Given the description of an element on the screen output the (x, y) to click on. 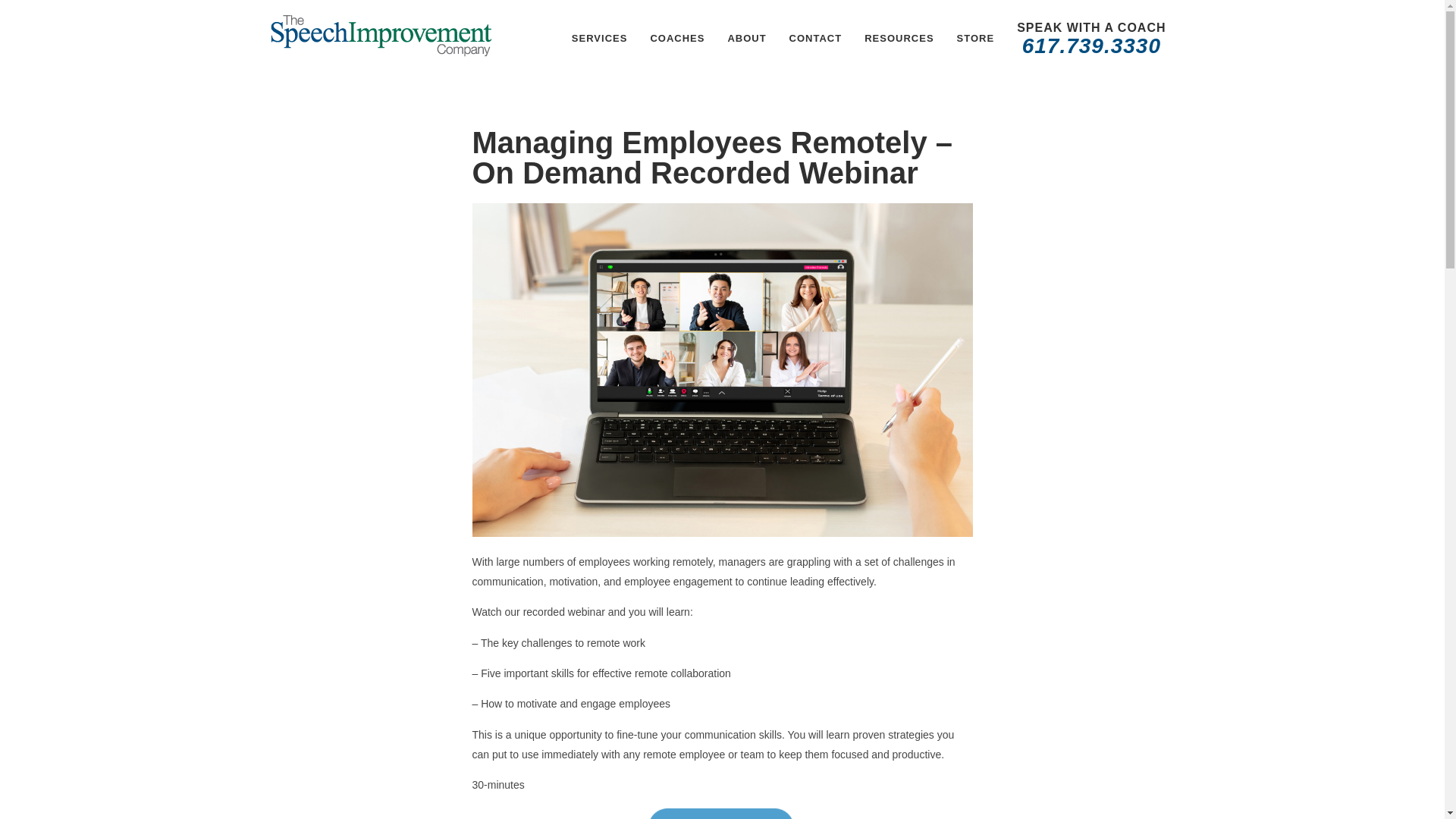
SERVICES (599, 38)
COACHES (677, 38)
ABOUT (746, 38)
